Given the description of an element on the screen output the (x, y) to click on. 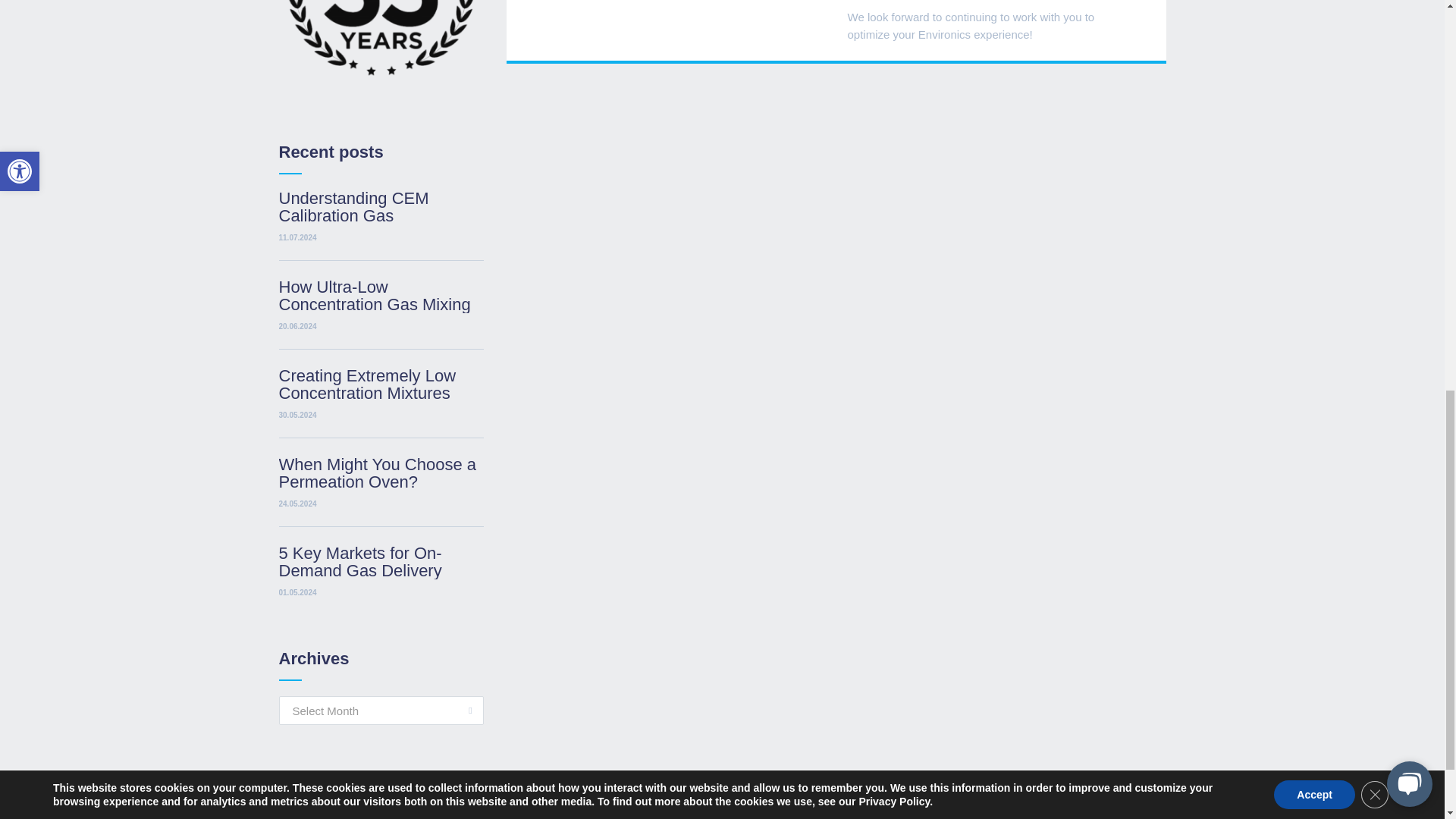
Select Month (381, 710)
